Given the description of an element on the screen output the (x, y) to click on. 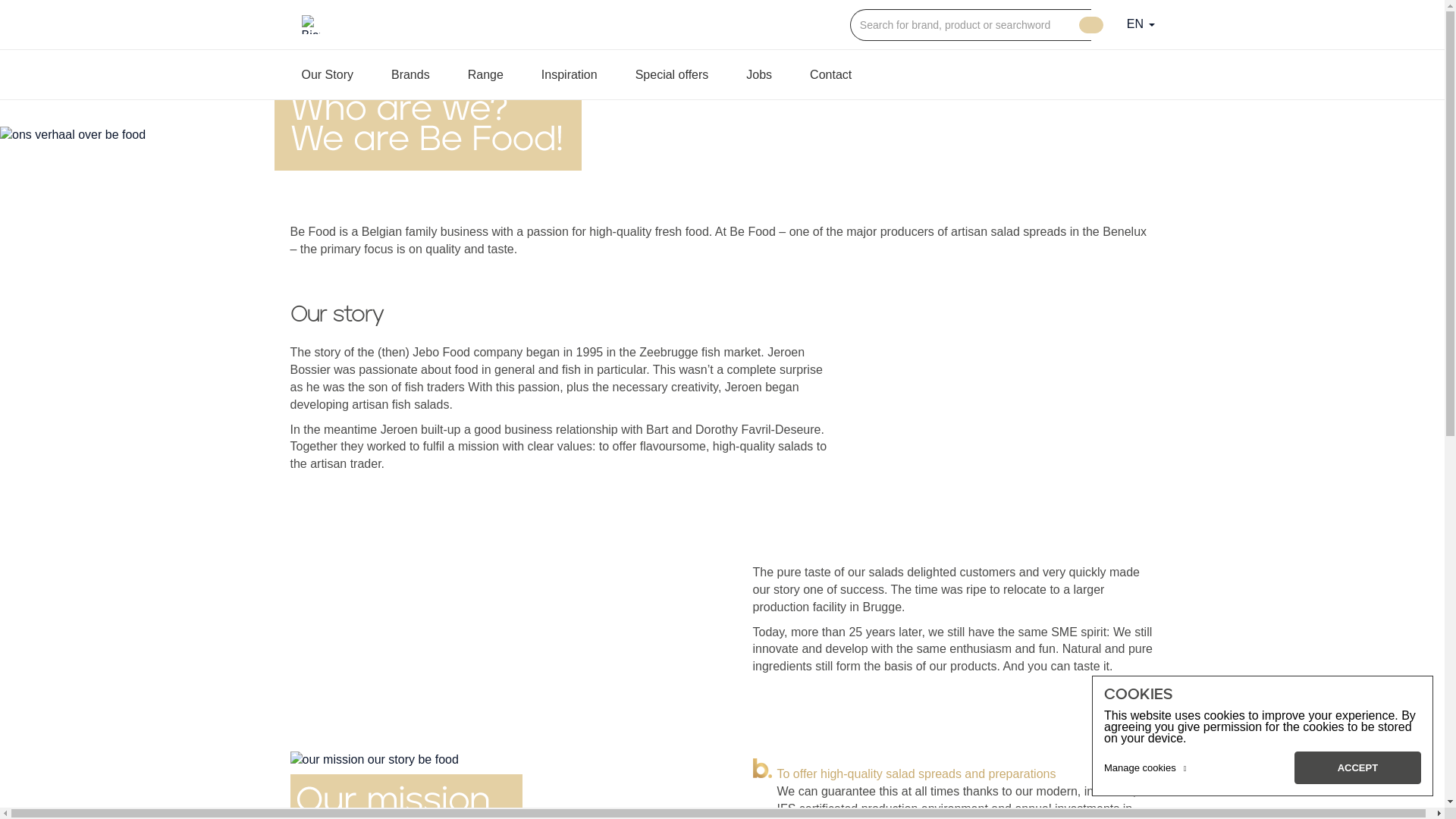
Special offers Element type: text (671, 74)
EN Element type: text (1140, 23)
Range Element type: text (485, 74)
Manage cookies Element type: text (1145, 768)
Brands Element type: text (410, 74)
Contact Element type: text (830, 74)
ACCEPT Element type: text (1357, 767)
Inspiration Element type: text (569, 74)
Our Story Element type: text (327, 74)
Jobs Element type: text (758, 74)
